Given the description of an element on the screen output the (x, y) to click on. 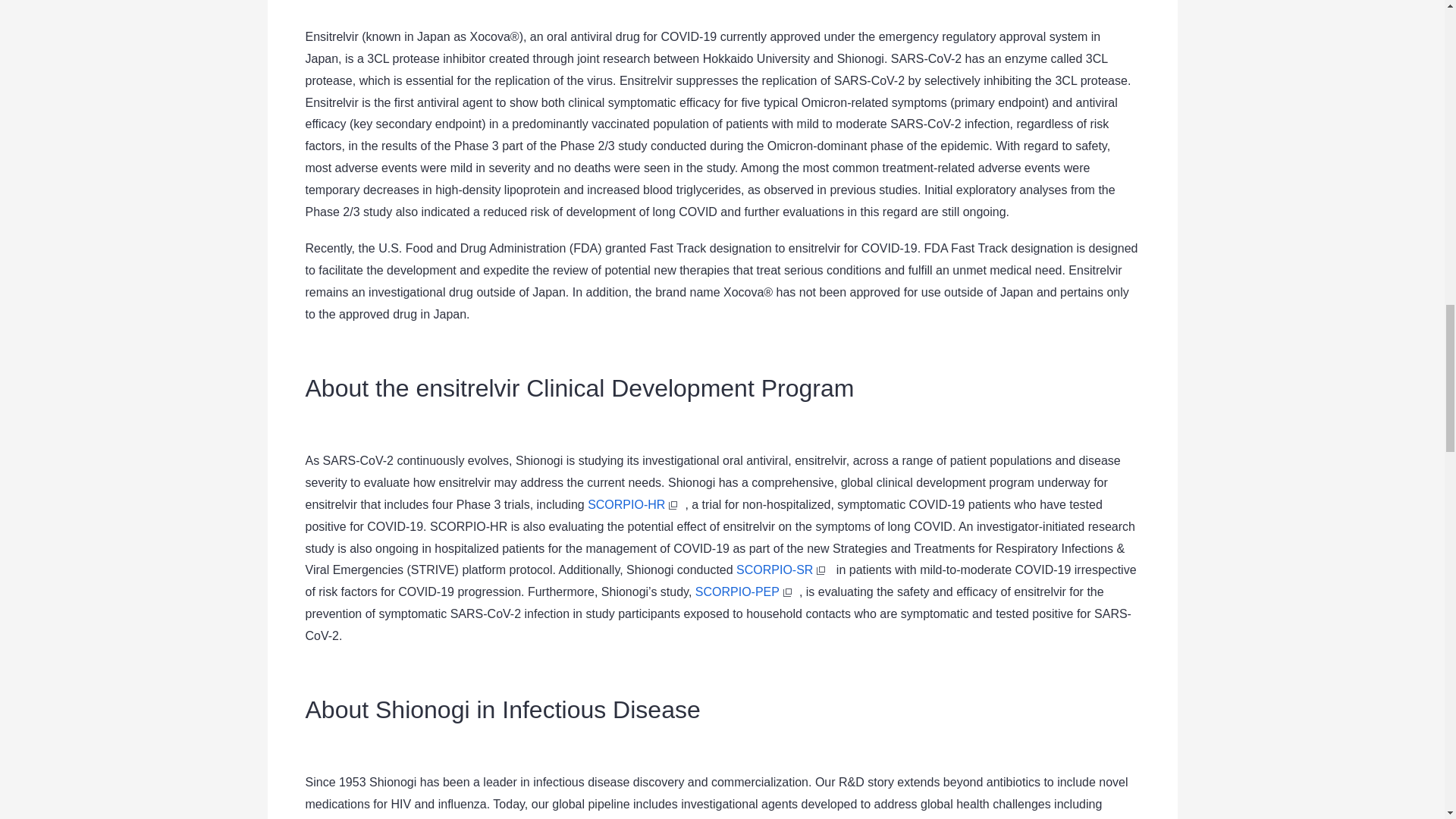
SCORPIO-HR (636, 504)
